Given the description of an element on the screen output the (x, y) to click on. 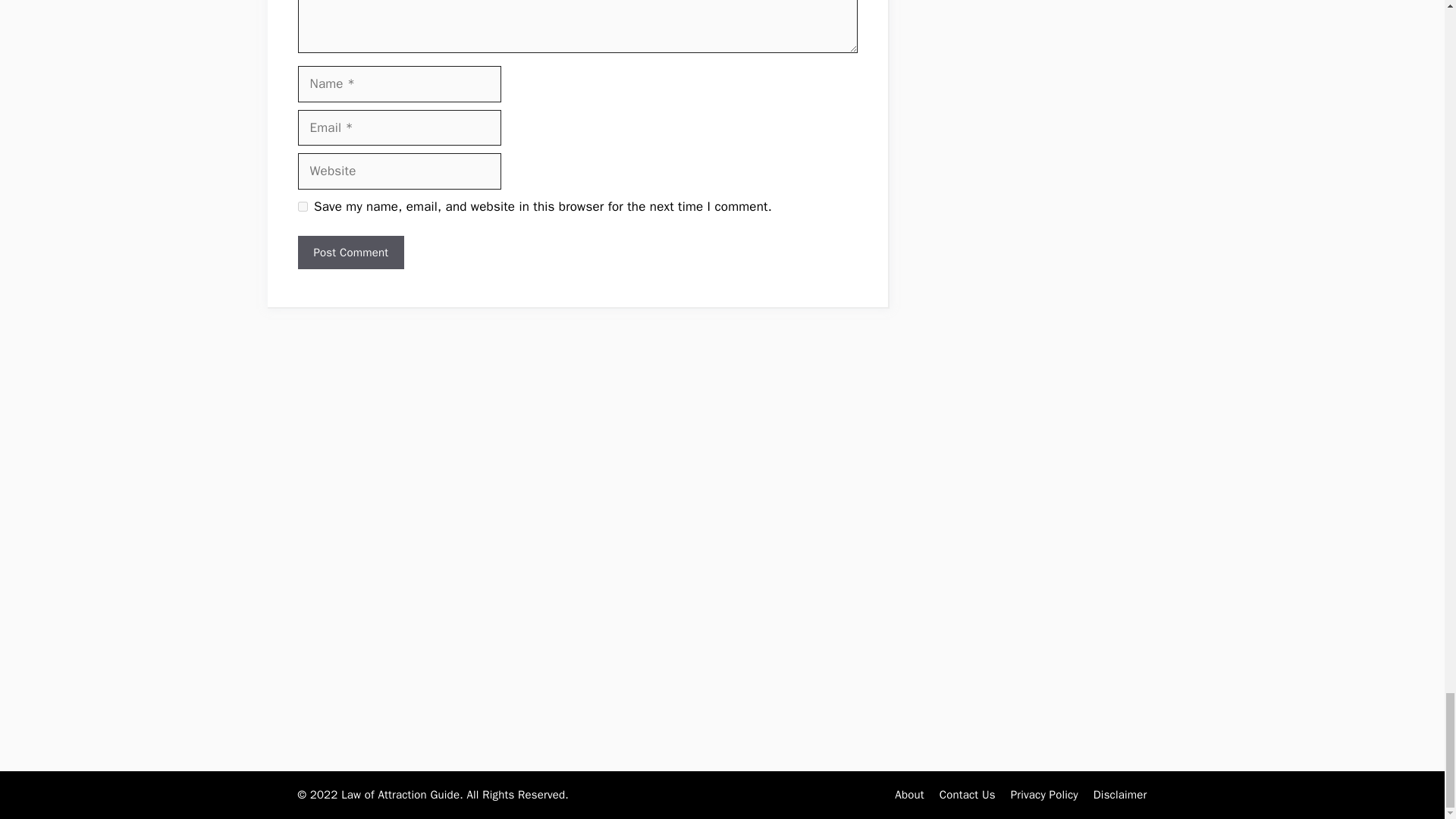
Post Comment (350, 252)
Privacy Policy (1044, 794)
About (909, 794)
Disclaimer (1120, 794)
Post Comment (350, 252)
yes (302, 206)
Contact Us (967, 794)
